Given the description of an element on the screen output the (x, y) to click on. 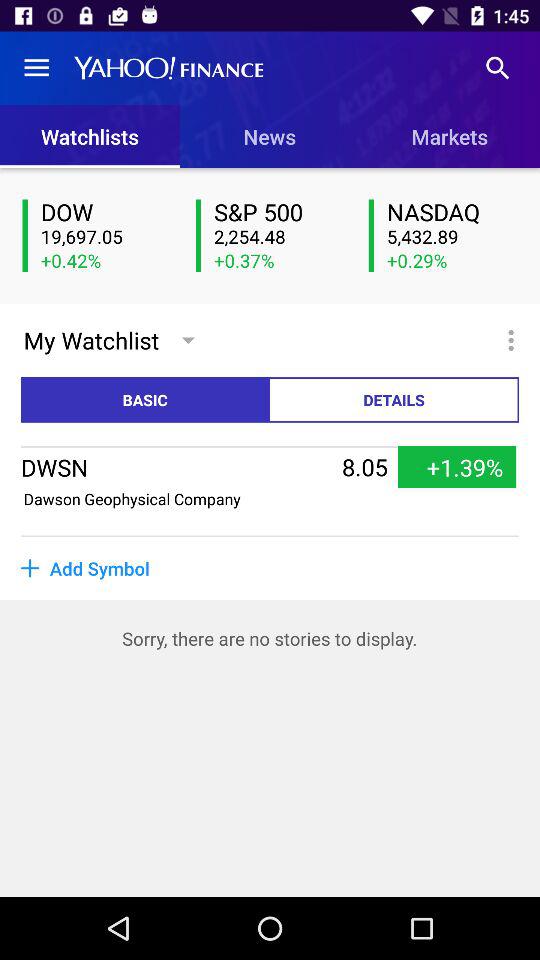
turn off sorry there are item (269, 638)
